Given the description of an element on the screen output the (x, y) to click on. 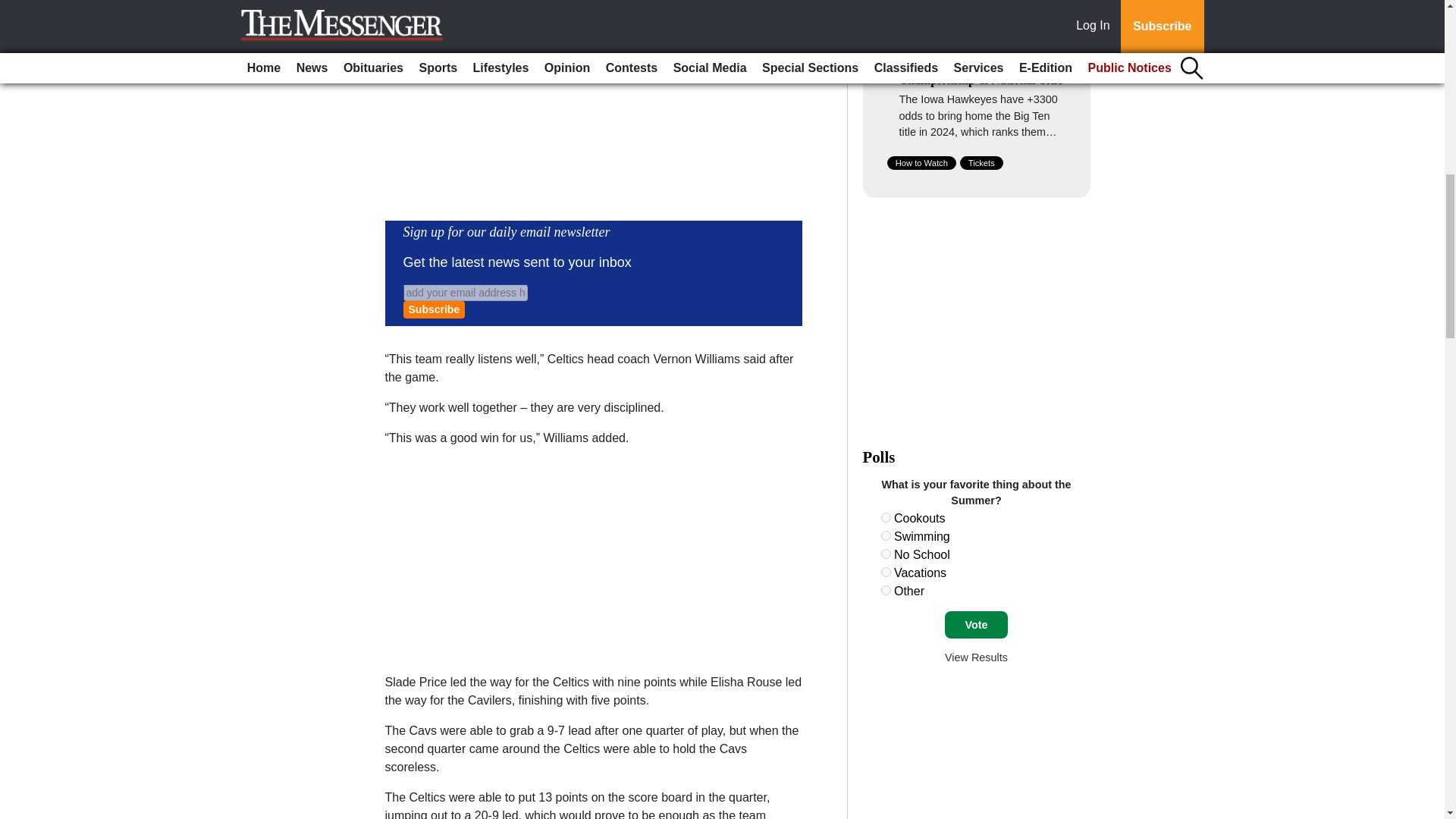
7276 (885, 553)
Subscribe (434, 309)
7274 (885, 517)
View Results Of This Poll (975, 657)
7277 (885, 572)
7275 (885, 535)
   Vote    (975, 624)
7278 (885, 590)
